Given the description of an element on the screen output the (x, y) to click on. 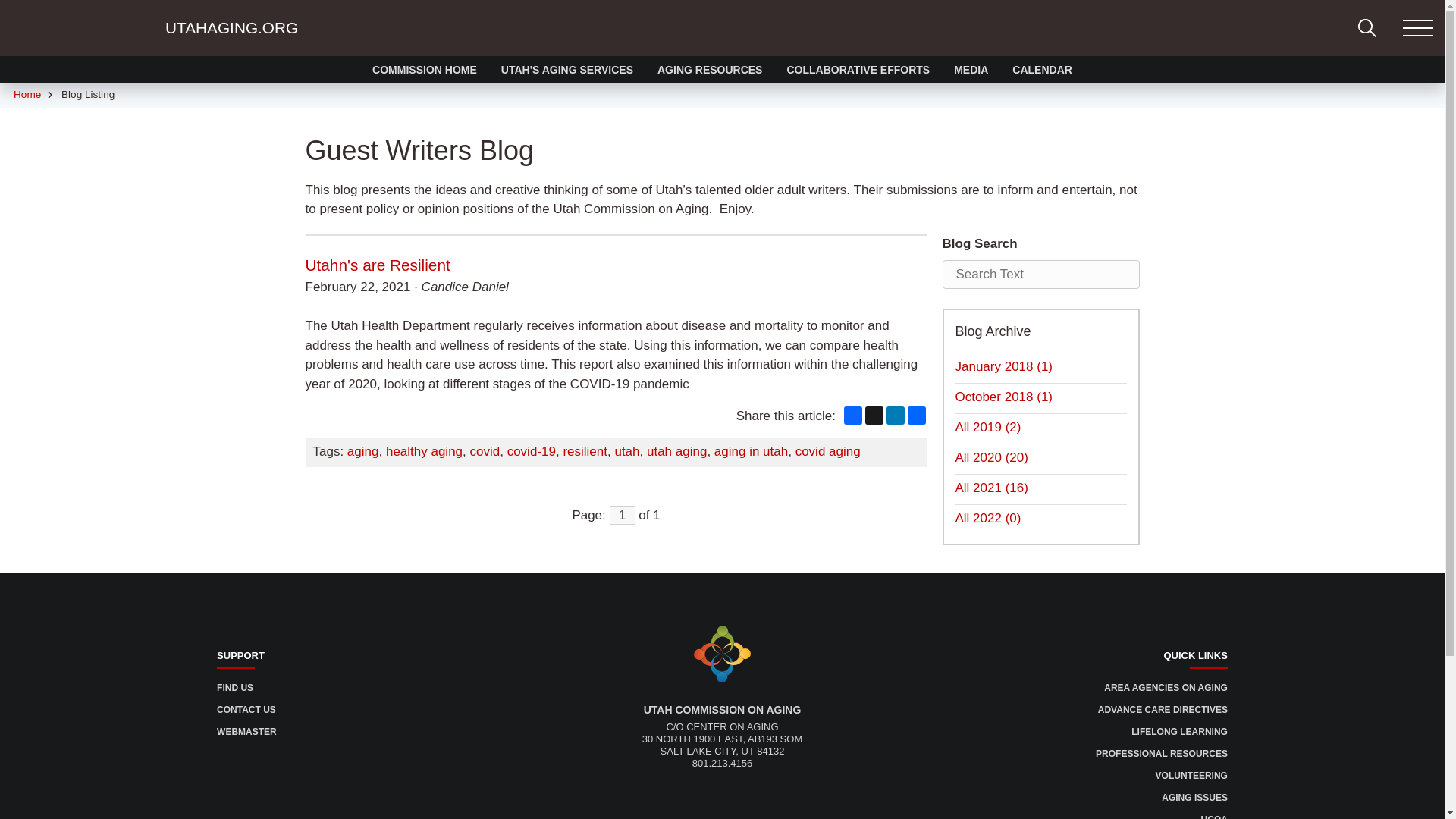
COLLABORATIVE EFFORTS (857, 69)
UTAHAGING.ORG (231, 27)
1 (622, 515)
CALENDAR (1042, 69)
COMMISSION HOME (424, 69)
UTAH'S AGING SERVICES (567, 69)
AGING RESOURCES (709, 69)
MEDIA (970, 69)
